Given the description of an element on the screen output the (x, y) to click on. 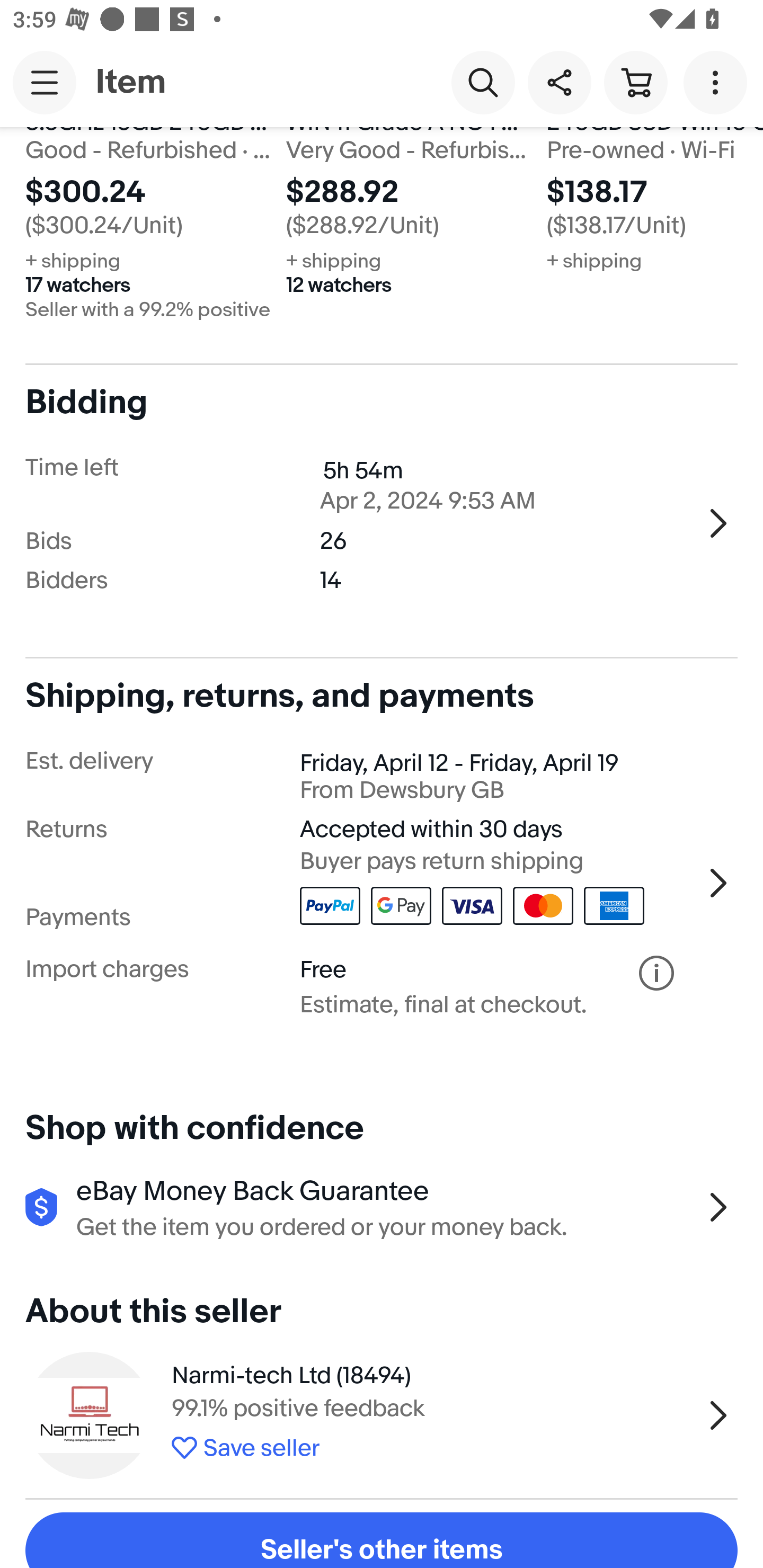
Main navigation, open (44, 82)
Search (482, 81)
Share this item (559, 81)
Cart button shopping cart (635, 81)
More options (718, 81)
Terms and conditions - Import charges (656, 972)
Save seller (431, 1443)
Seller's other items (381, 1540)
